Given the description of an element on the screen output the (x, y) to click on. 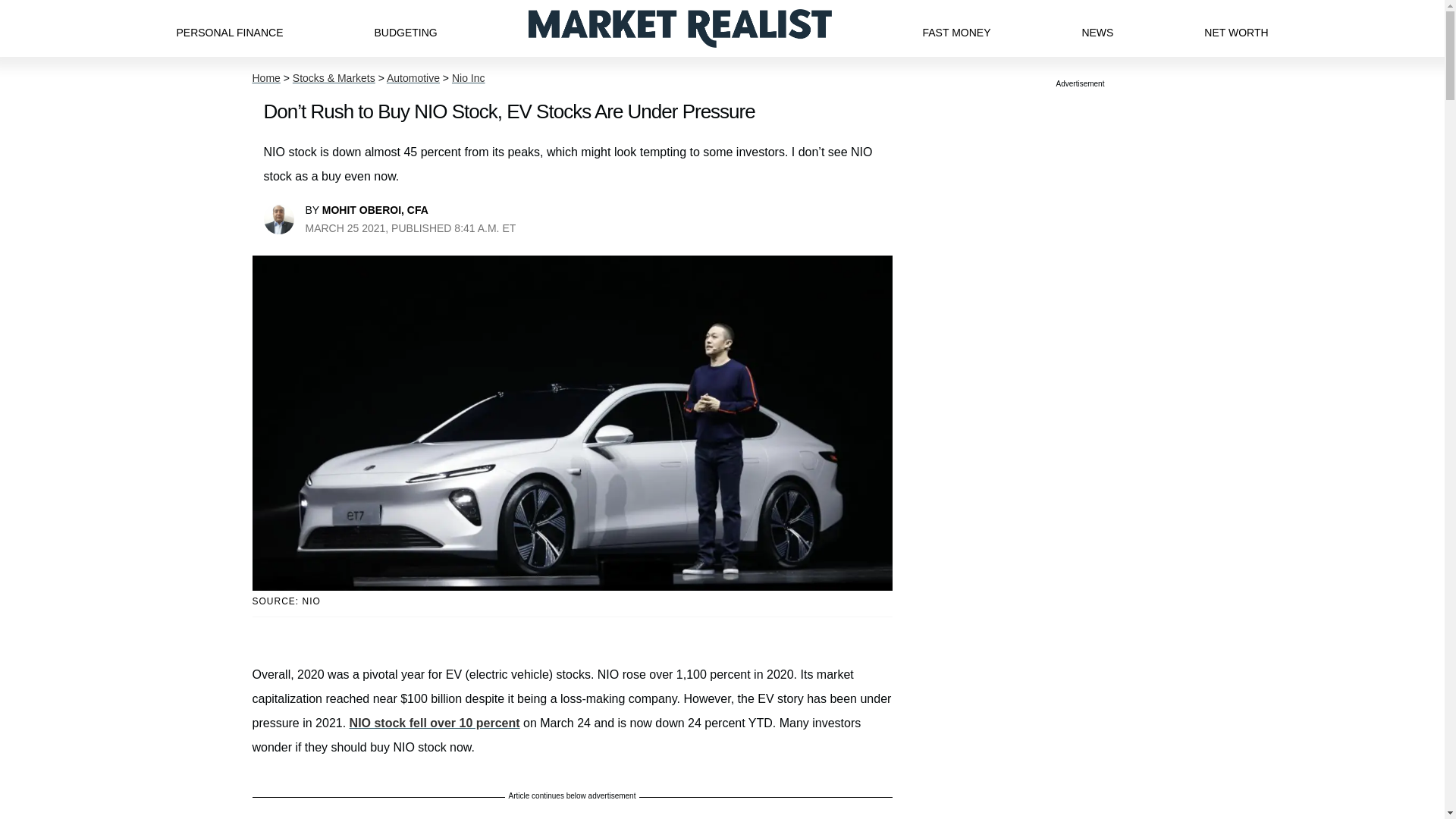
SOURCE: NIO (571, 601)
Automotive (413, 78)
BUDGETING (405, 27)
Nio Inc (467, 78)
NIO stock fell over 10 percent (434, 722)
FAST MONEY (955, 27)
PERSONAL FINANCE (229, 27)
NEWS (1097, 27)
NET WORTH (1236, 27)
Home (265, 78)
